Given the description of an element on the screen output the (x, y) to click on. 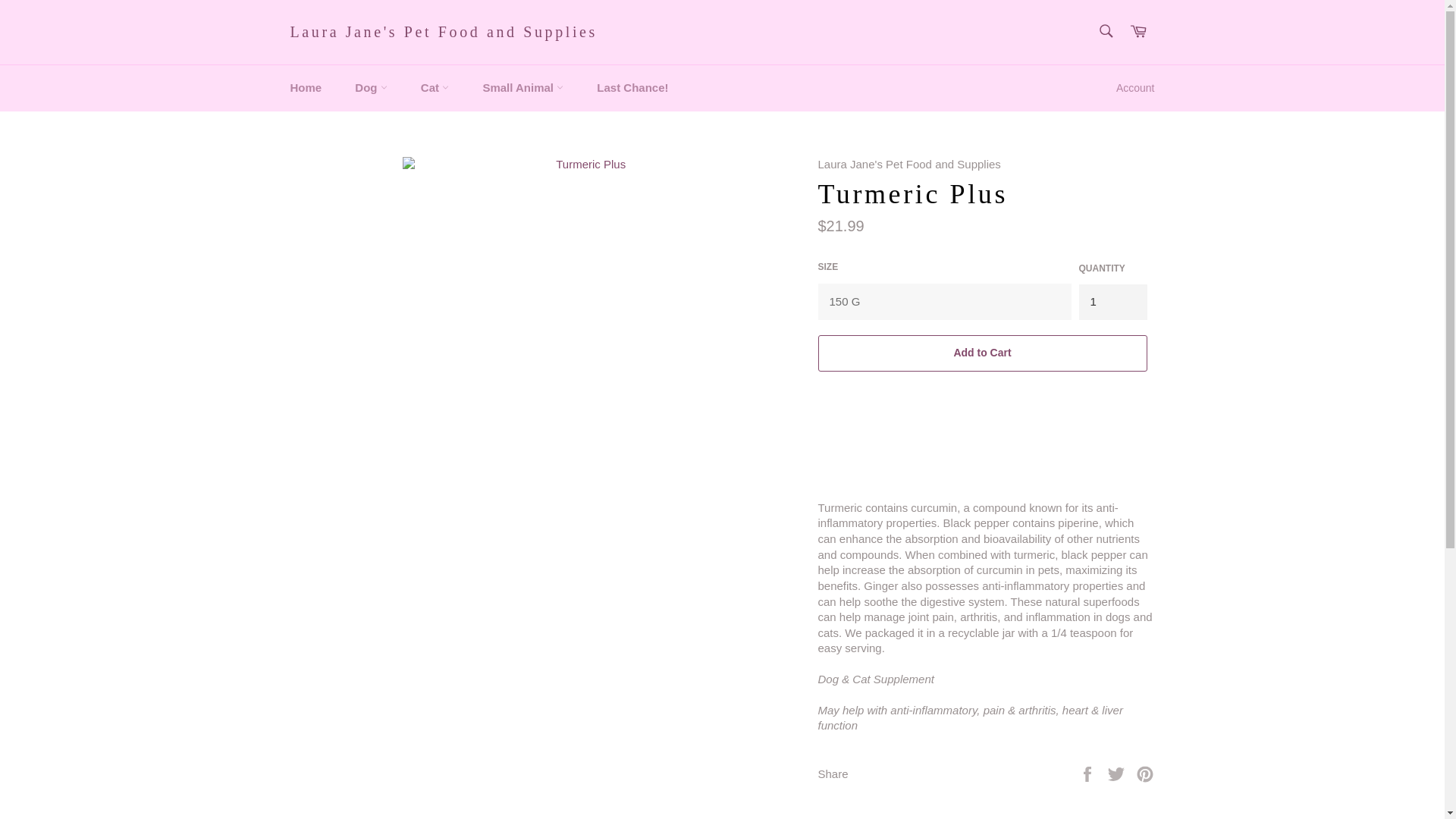
Pin on Pinterest (1144, 772)
Tweet on Twitter (1117, 772)
Share on Facebook (1088, 772)
1 (1112, 302)
